Given the description of an element on the screen output the (x, y) to click on. 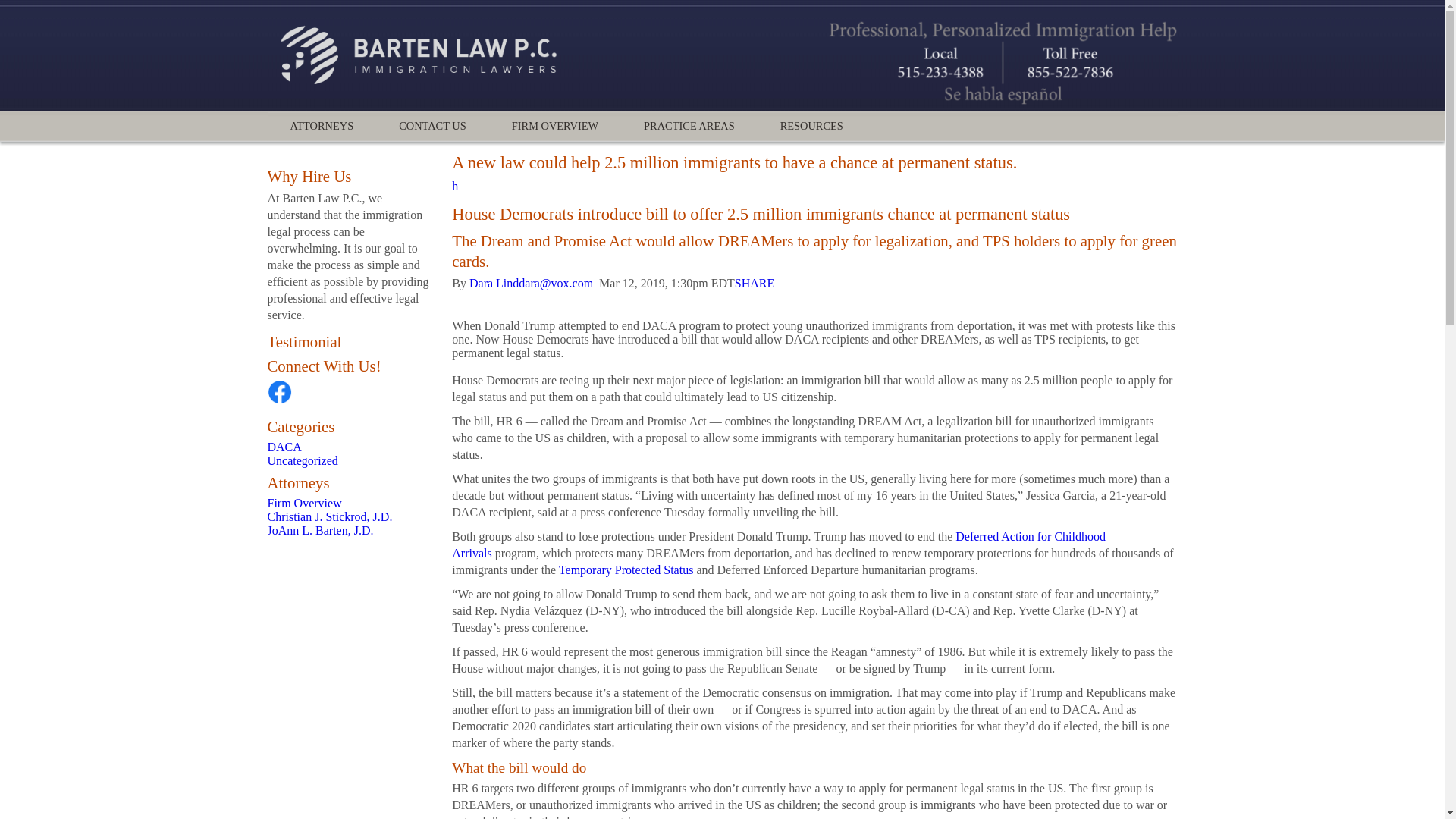
JoAnn L. Barten, J.D. (319, 530)
DACA (283, 446)
Christian J. Stickrod, J.D. (328, 516)
FIRM OVERVIEW (555, 126)
Dara Lind (493, 282)
PRACTICE AREAS (689, 126)
CONTACT US (432, 126)
ATTORNEYS (320, 126)
RESOURCES (811, 126)
Firm Overview (303, 502)
Uncategorized (301, 460)
